Given the description of an element on the screen output the (x, y) to click on. 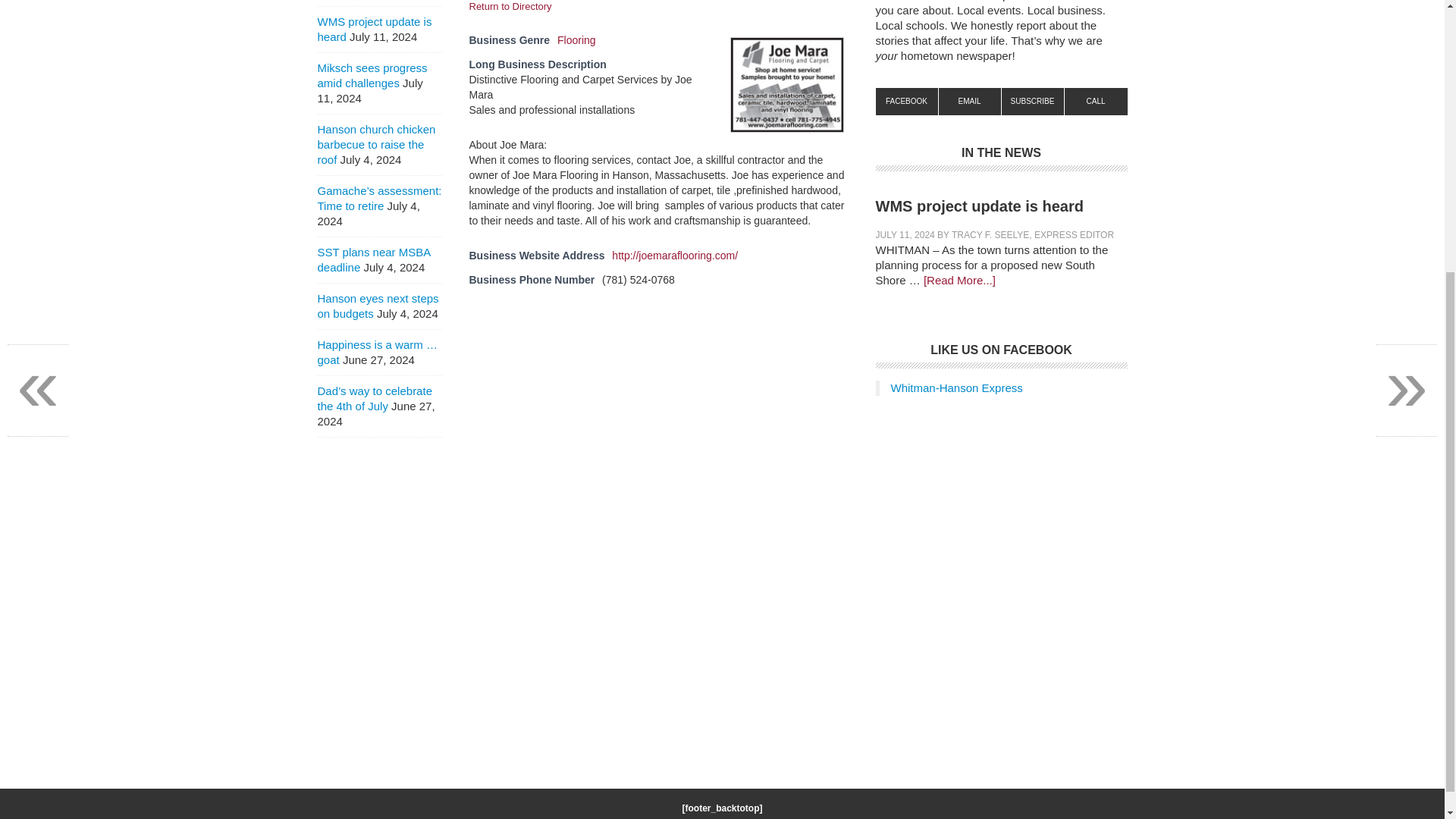
Advertisement (1000, 602)
Return to Directory (509, 6)
Flooring (576, 39)
Hanson eyes next steps on budgets (377, 305)
Joe Mara Flooring and Carpet (786, 84)
SUBSCRIBE (1032, 101)
WMS project update is heard (373, 29)
CALL (1095, 101)
WMS project update is heard (979, 206)
Hanson church chicken barbecue to raise the roof (376, 144)
TRACY F. SEELYE, EXPRESS EDITOR (1032, 235)
Miksch sees progress amid challenges (371, 75)
Whitman-Hanson Express (955, 387)
FACEBOOK (906, 101)
EMAIL (970, 101)
